Given the description of an element on the screen output the (x, y) to click on. 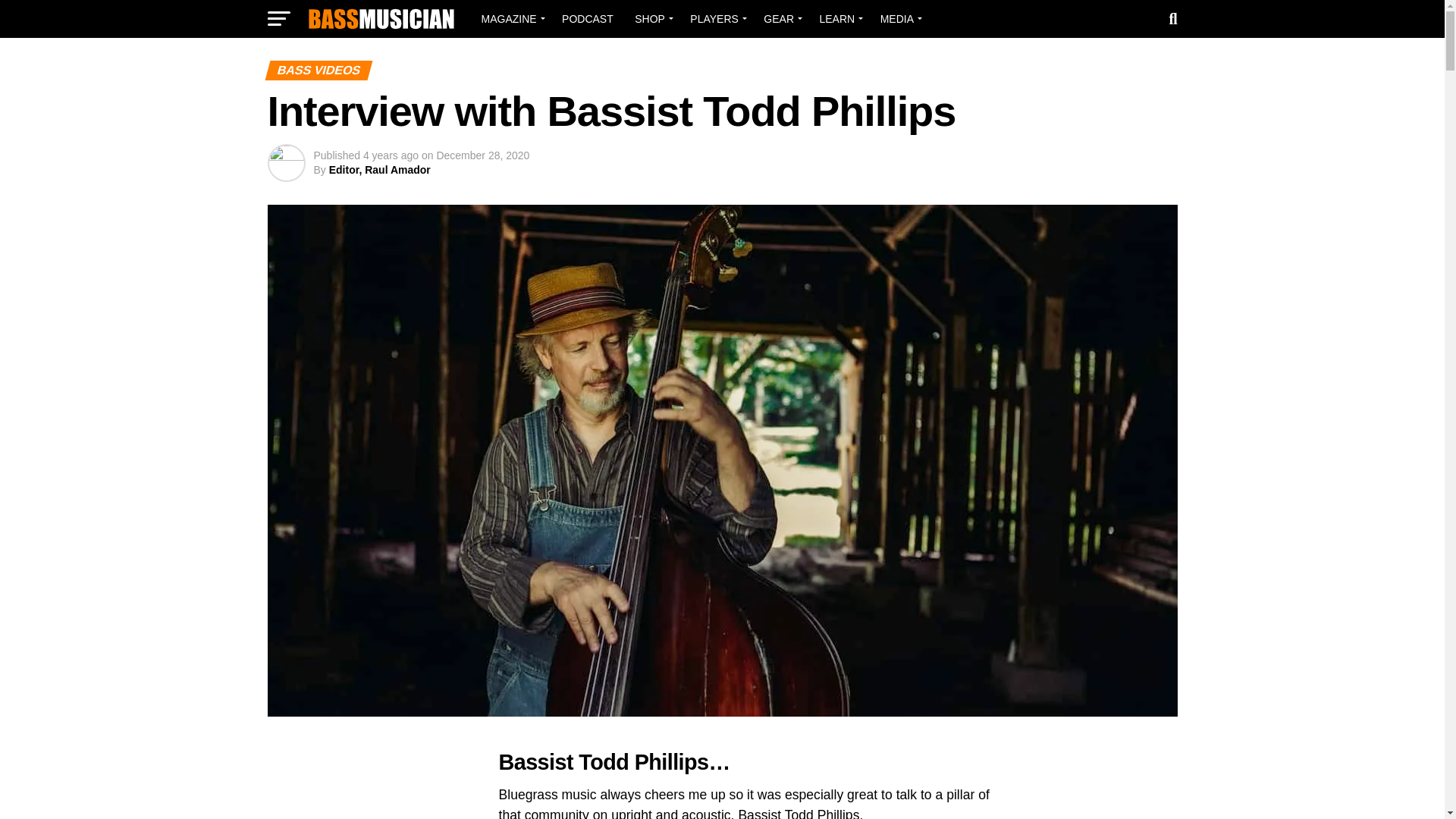
Posts by Editor, Raul Amador (379, 169)
